Given the description of an element on the screen output the (x, y) to click on. 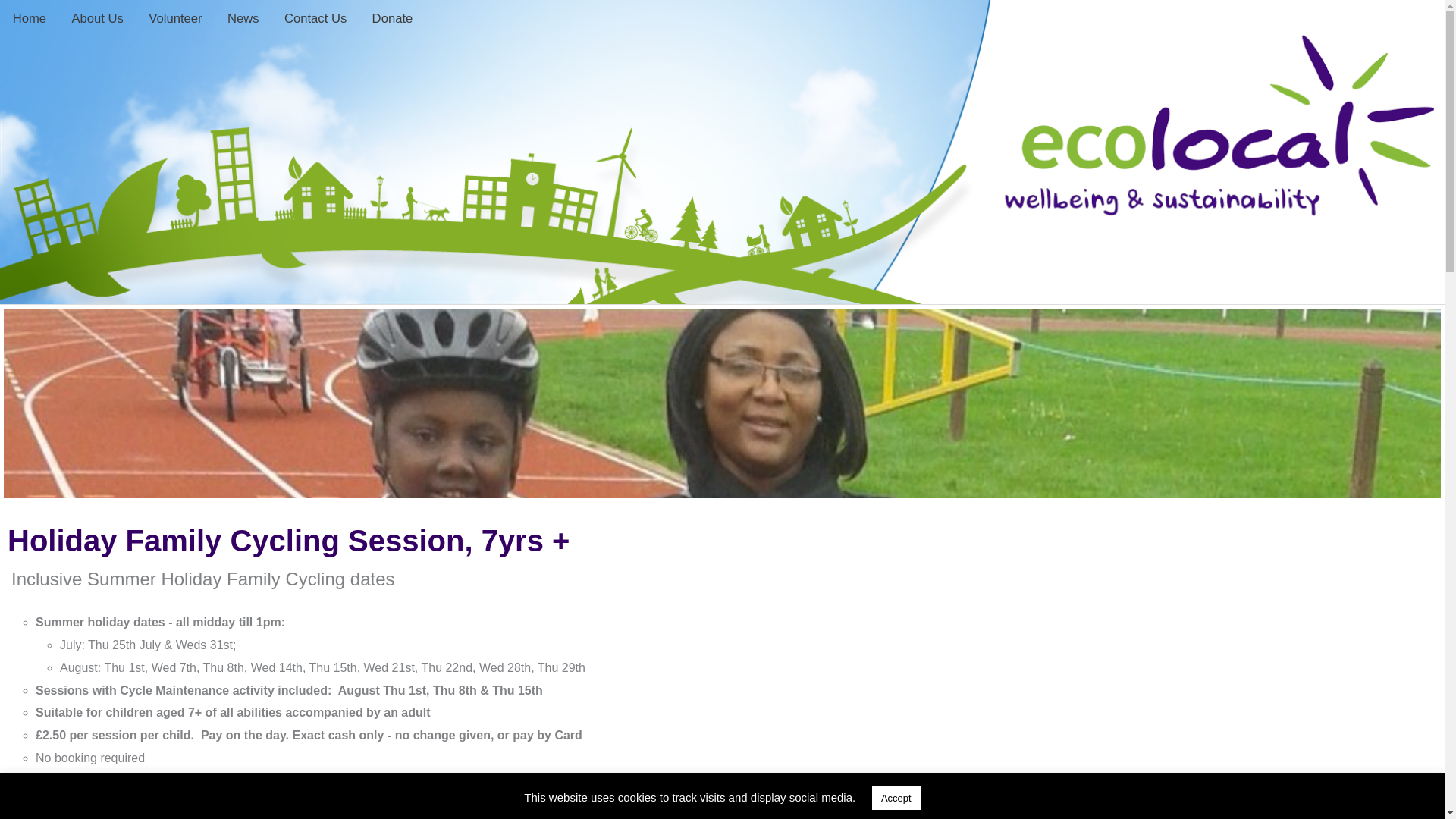
here (146, 802)
Accept (896, 797)
Contact Us (314, 22)
Volunteer (175, 22)
Home (29, 22)
About Us (97, 22)
Donate (392, 22)
News (242, 22)
